Given the description of an element on the screen output the (x, y) to click on. 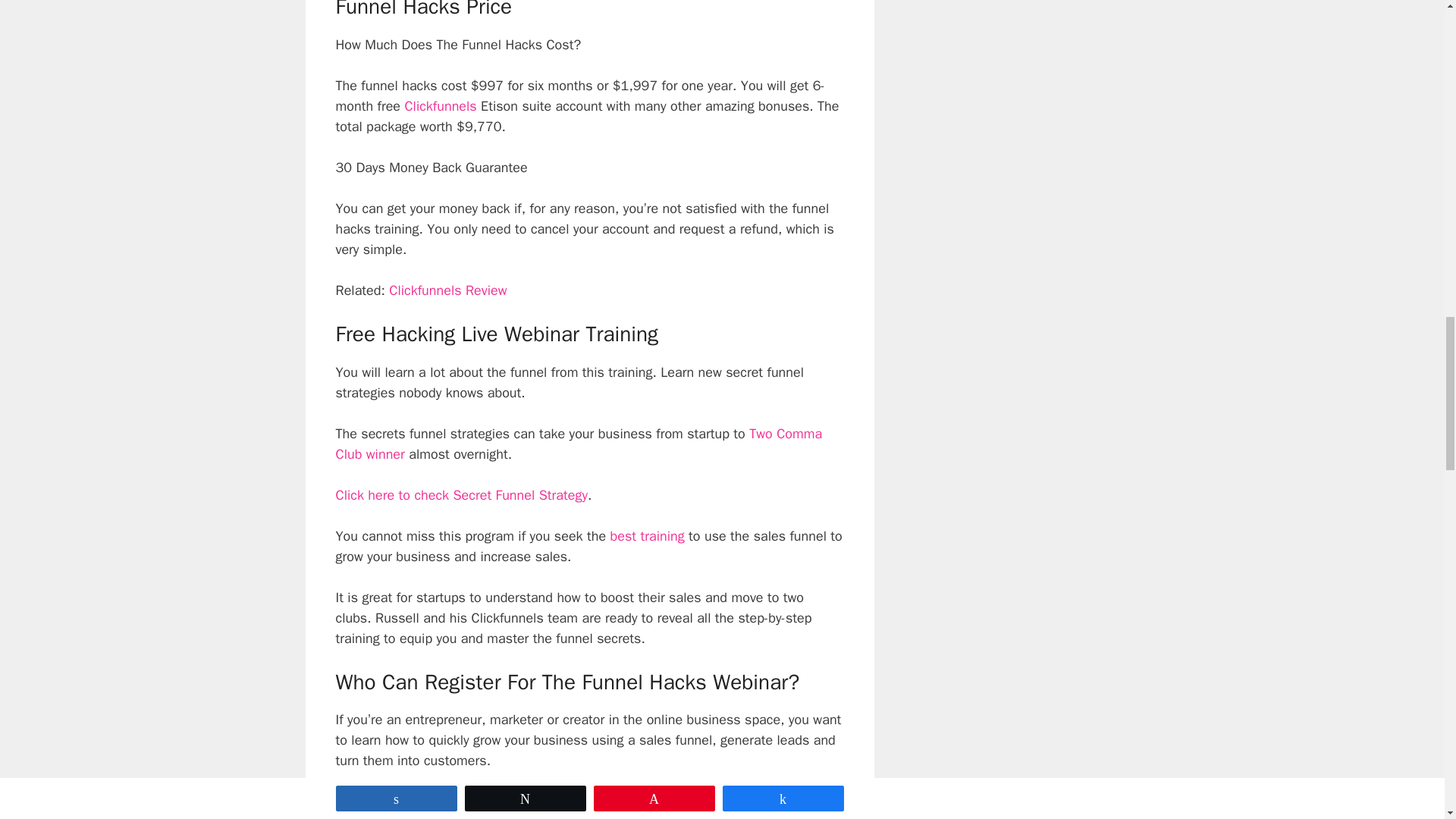
sales funnel (599, 816)
Click here to check Secret Funnel Strategy (461, 494)
Clickfunnels Review (447, 289)
Two Comma Club winner (578, 443)
Clickfunnels (440, 105)
best training (649, 535)
